Given the description of an element on the screen output the (x, y) to click on. 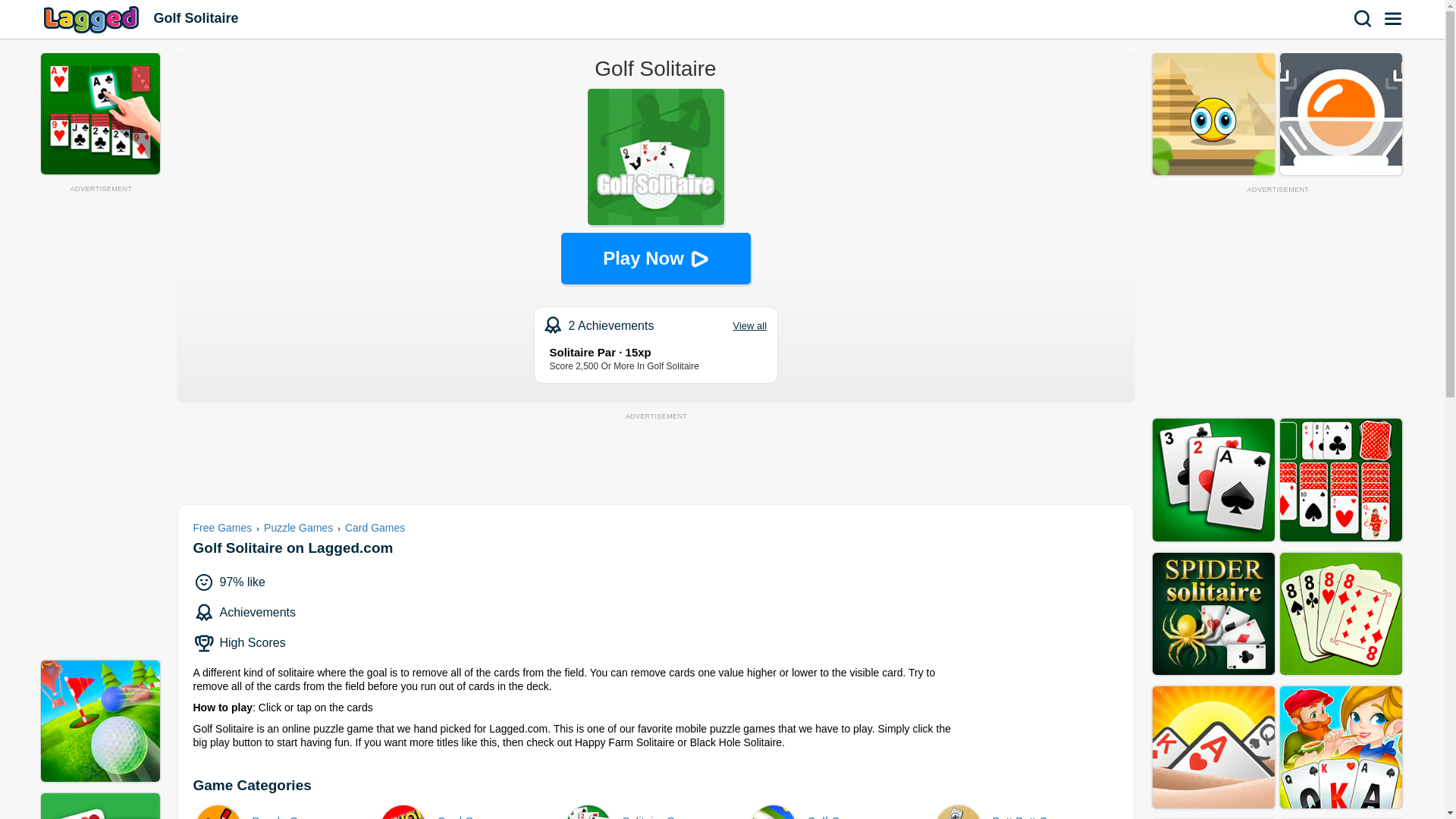
Puzzle Games (298, 527)
Puzzle Games (286, 812)
Lagged (842, 812)
Play Now (1027, 812)
Golf Games (92, 19)
Free Games (657, 812)
